Given the description of an element on the screen output the (x, y) to click on. 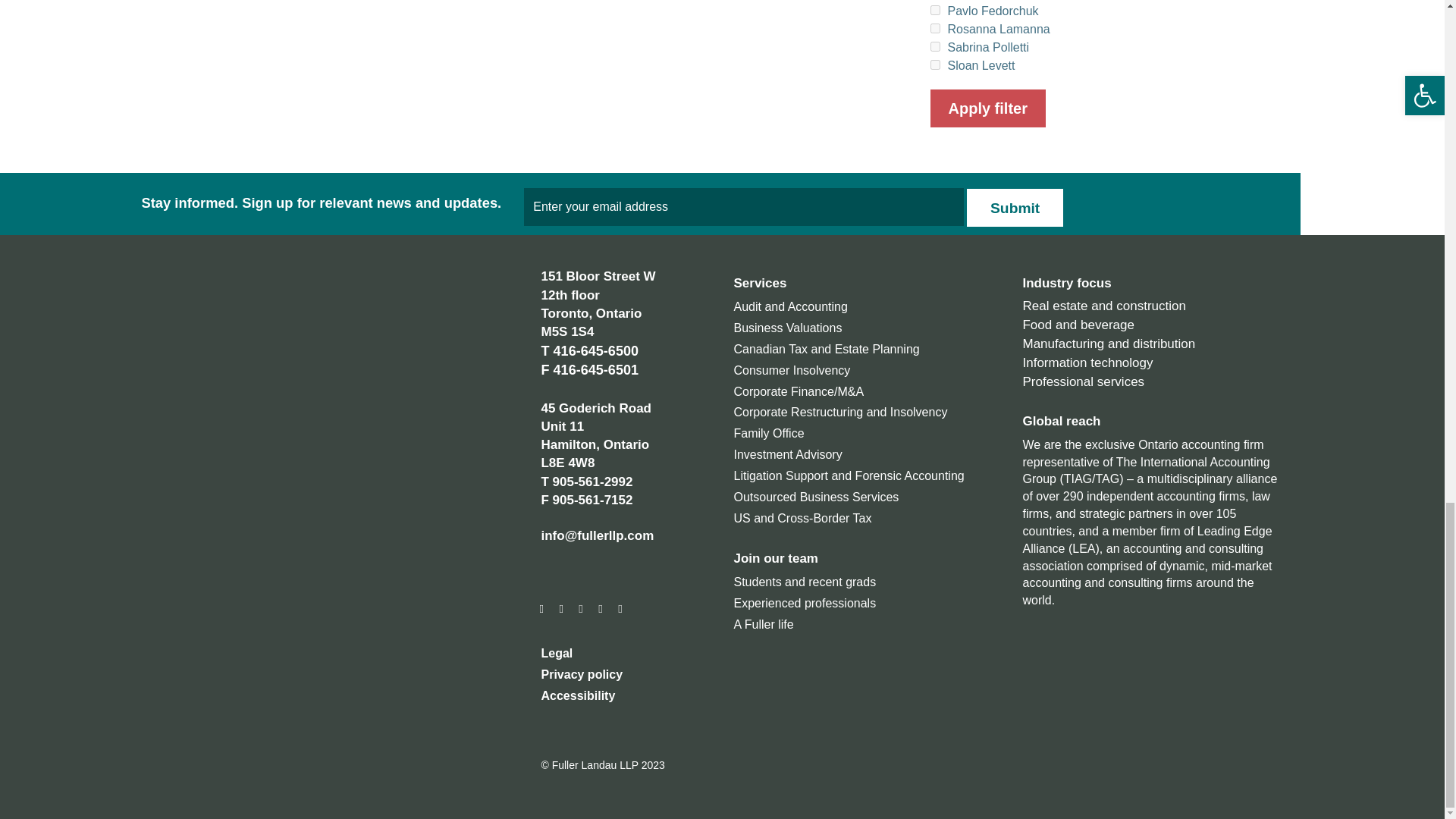
Fuller Landau LLP (231, 309)
